Given the description of an element on the screen output the (x, y) to click on. 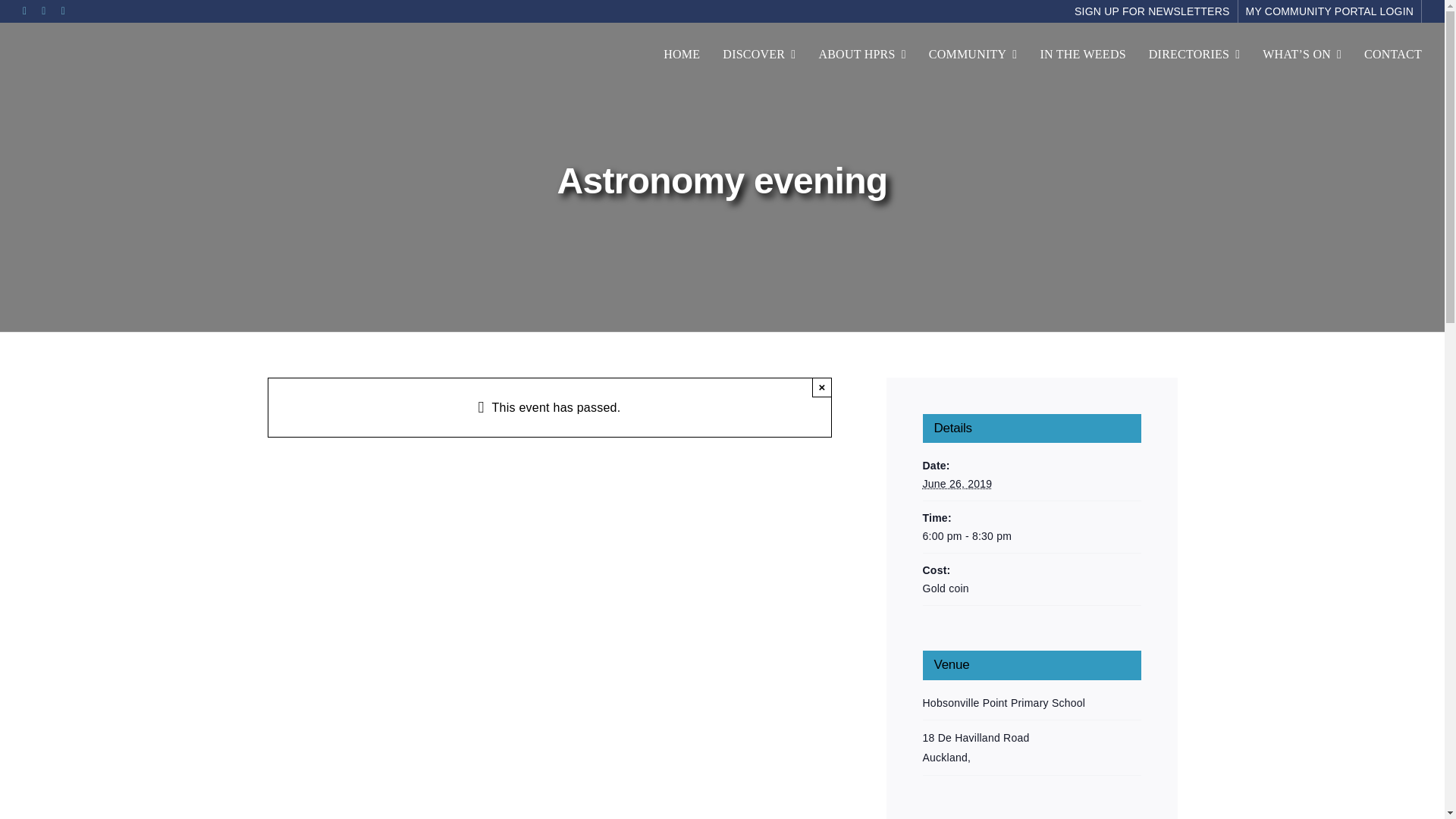
ABOUT HPRS (861, 54)
SIGN UP FOR NEWSLETTERS (1153, 11)
IN THE WEEDS (1082, 54)
2019-06-26 (956, 483)
COMMUNITY (972, 54)
2019-06-26 (1030, 536)
MY COMMUNITY PORTAL LOGIN (1330, 11)
DIRECTORIES (1194, 54)
HOME (681, 54)
DISCOVER (758, 54)
